Given the description of an element on the screen output the (x, y) to click on. 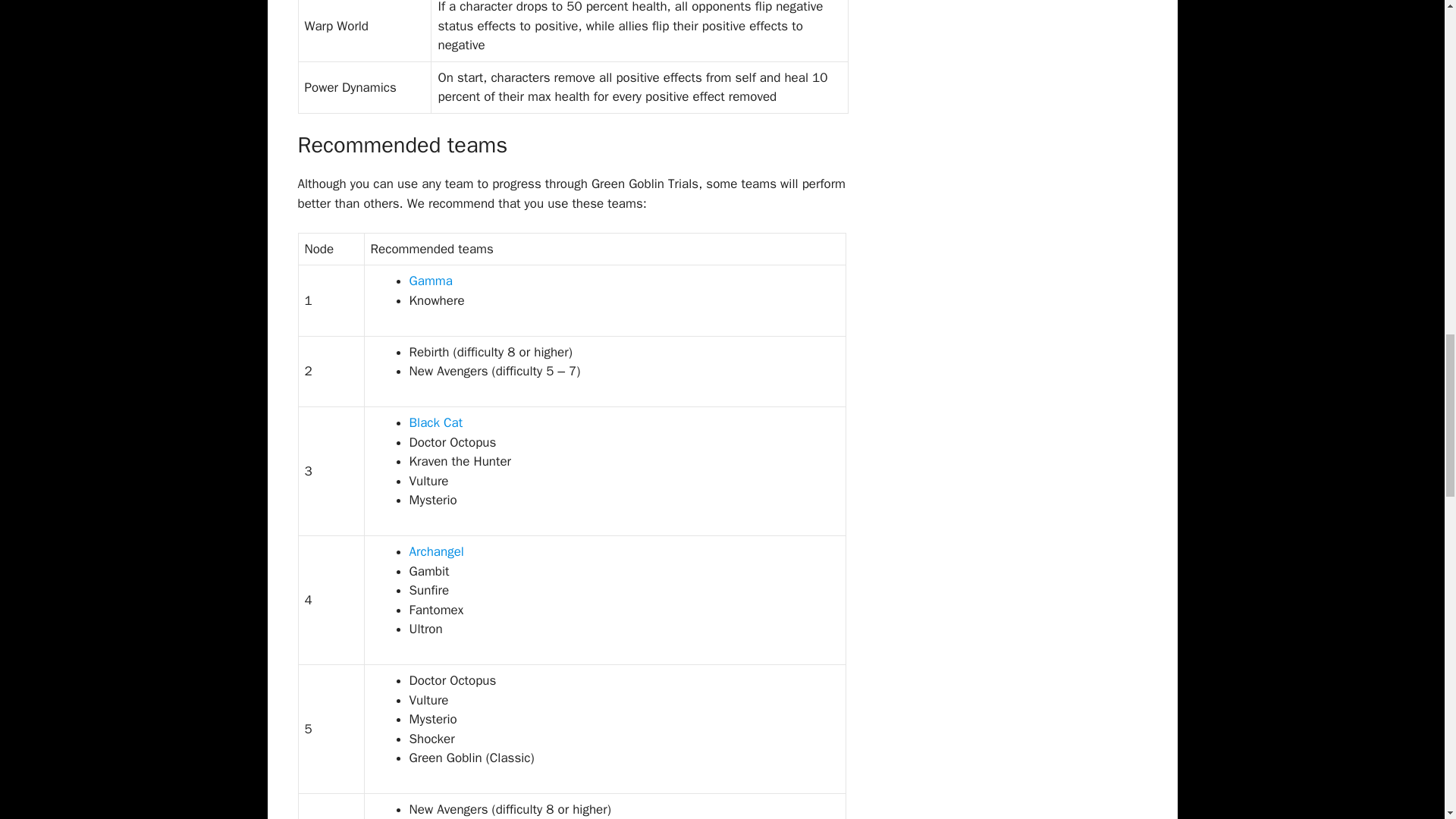
Archangel (436, 551)
Black Cat (436, 422)
Gamma (430, 280)
